Given the description of an element on the screen output the (x, y) to click on. 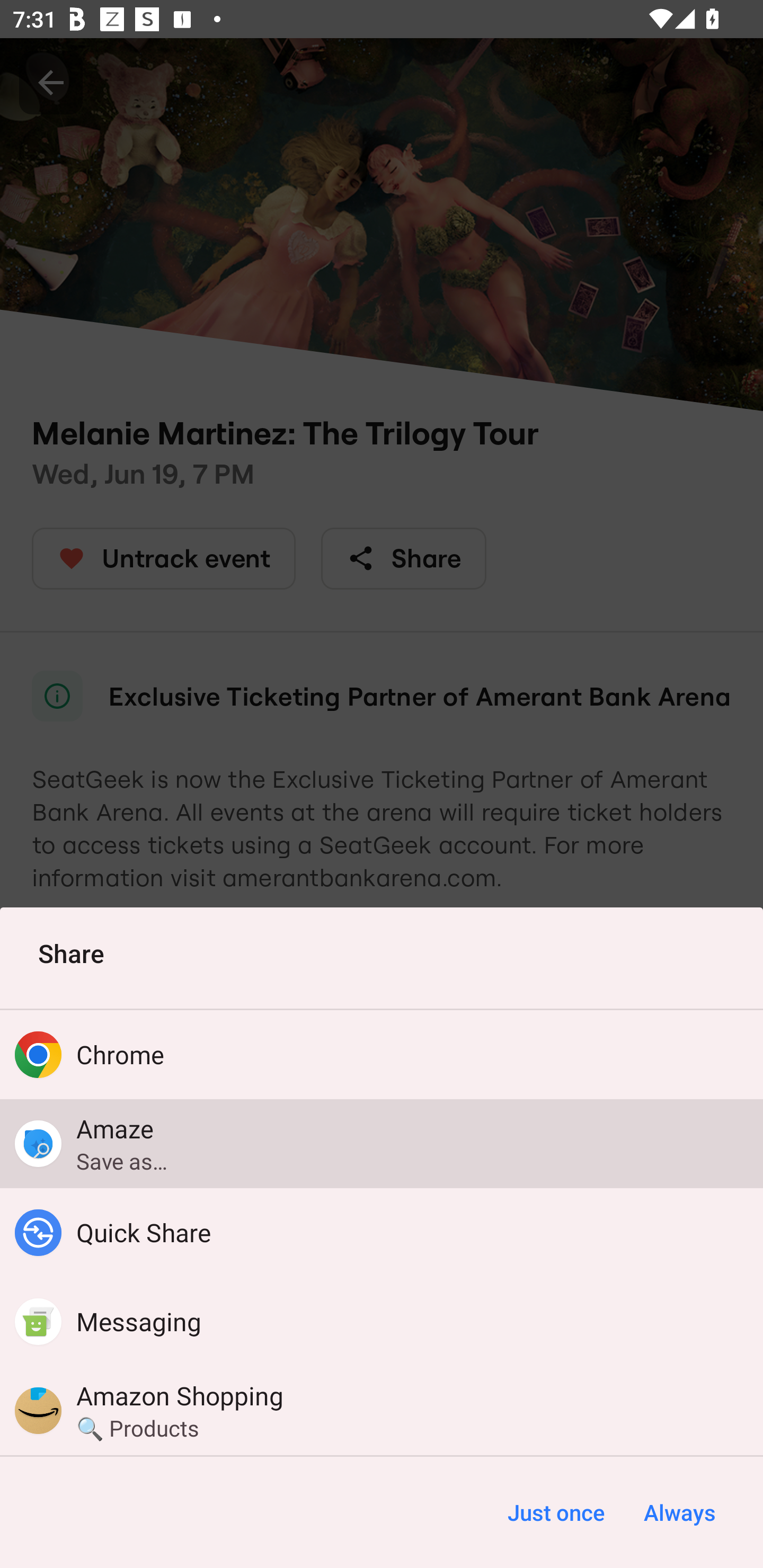
Chrome (381, 1054)
Amaze Save as… (381, 1143)
Quick Share (381, 1232)
Messaging (381, 1321)
Amazon Shopping 🔍 Products (381, 1410)
Just once (556, 1512)
Always (679, 1512)
